Given the description of an element on the screen output the (x, y) to click on. 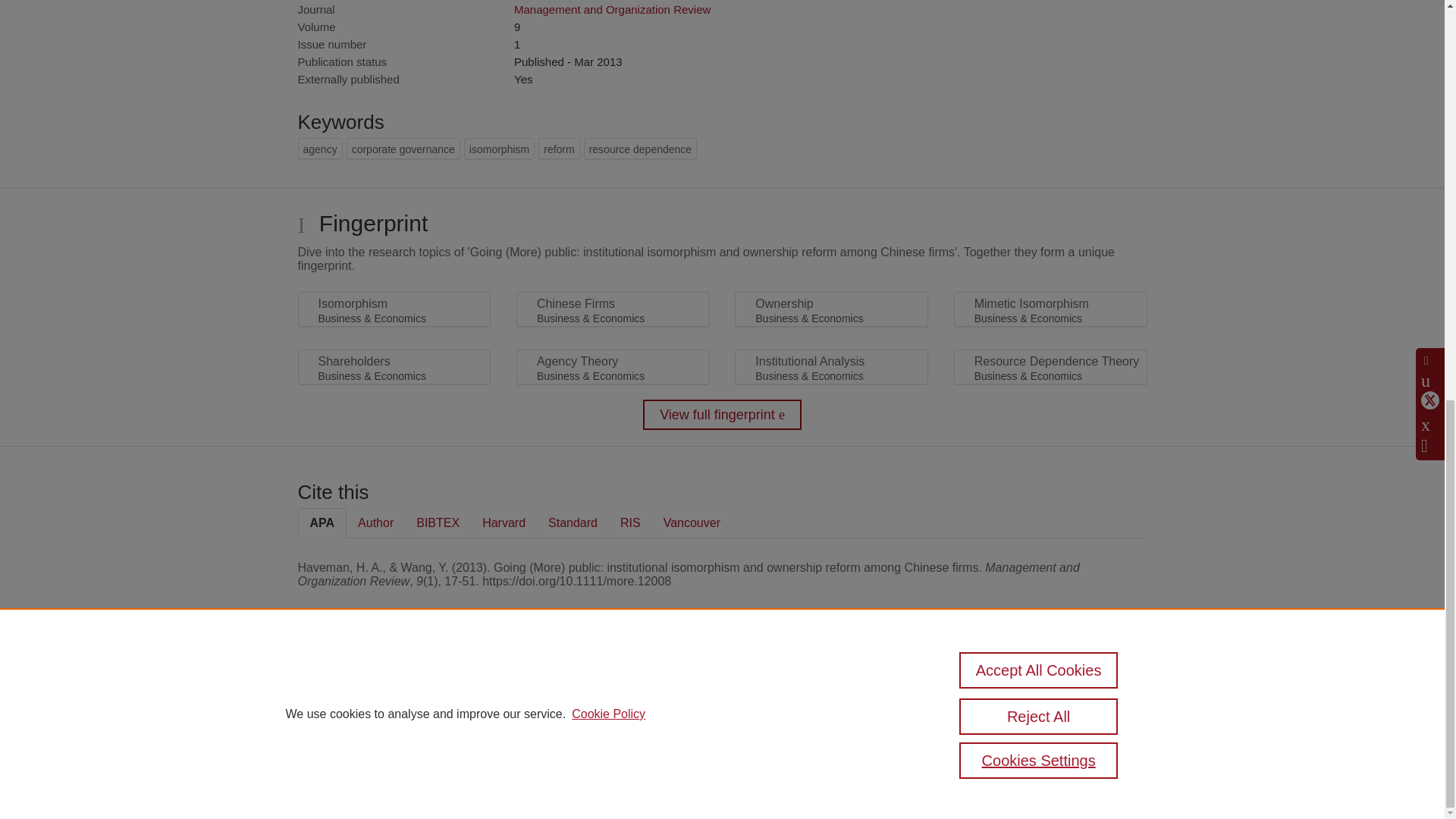
Pure (362, 686)
Scopus (394, 686)
Management and Organization Review (611, 9)
View full fingerprint (722, 414)
